Given the description of an element on the screen output the (x, y) to click on. 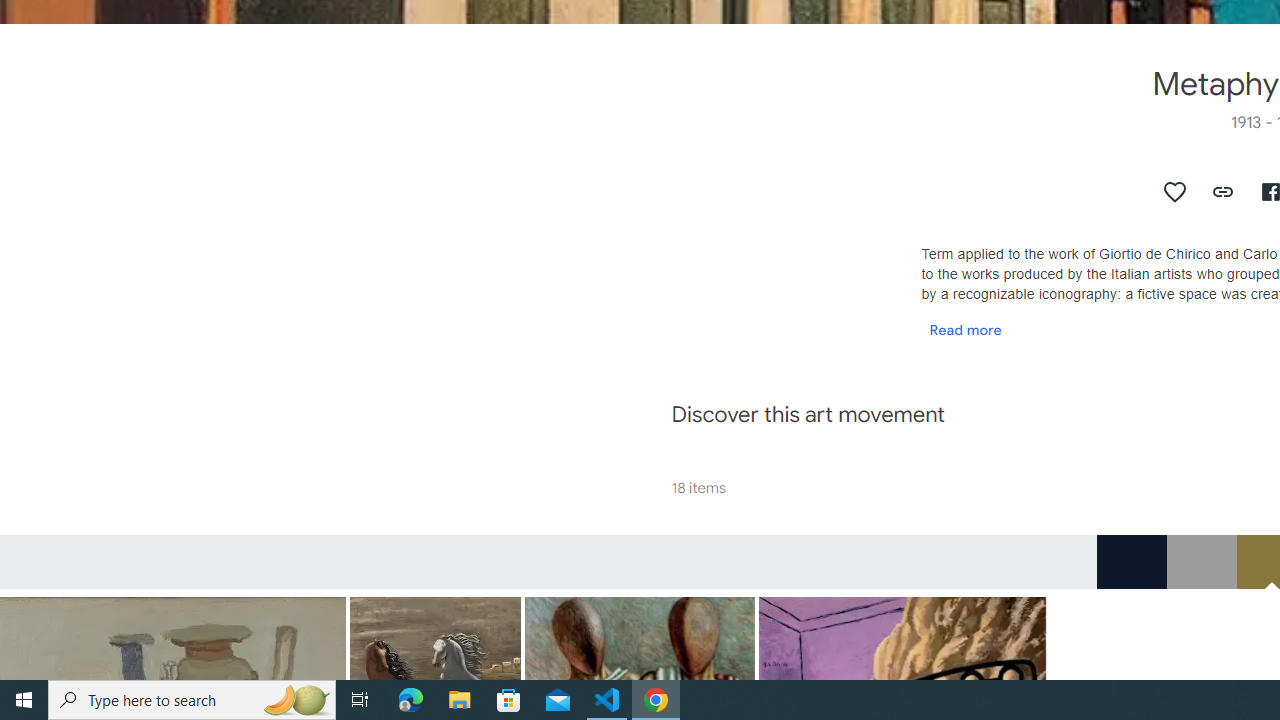
RGB_9C9C9C (1201, 561)
Authenticate to favorite this asset. (1175, 191)
Read more (965, 329)
Copy Link (1223, 191)
RGB_0E182D (1131, 561)
